Given the description of an element on the screen output the (x, y) to click on. 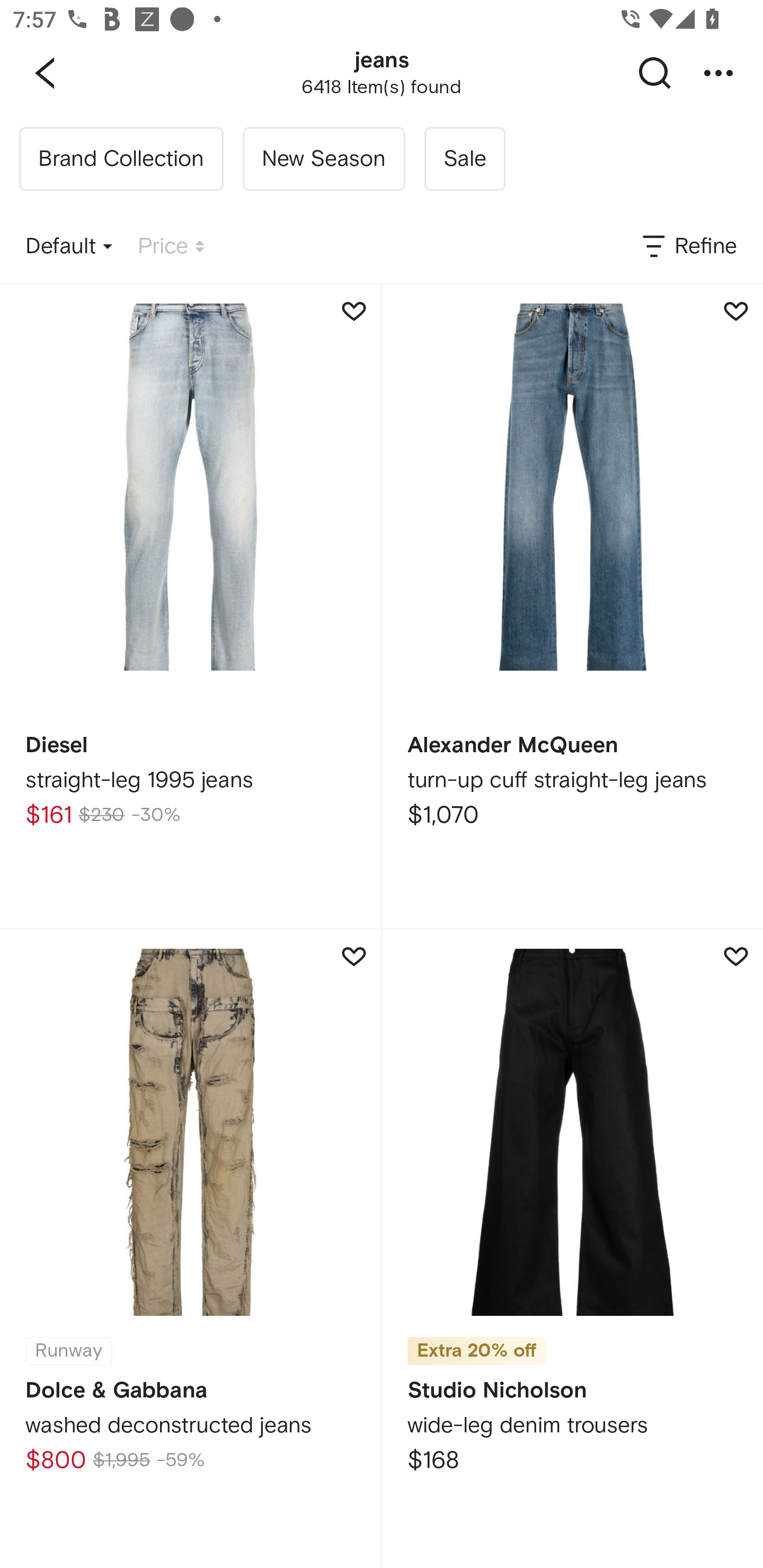
Brand Collection (121, 158)
New Season (323, 158)
Sale (464, 158)
Default (68, 246)
Price (171, 246)
Refine (688, 246)
Diesel straight-leg 1995 jeans $161 $230 -30% (190, 605)
Extra 20% off (477, 1344)
